Given the description of an element on the screen output the (x, y) to click on. 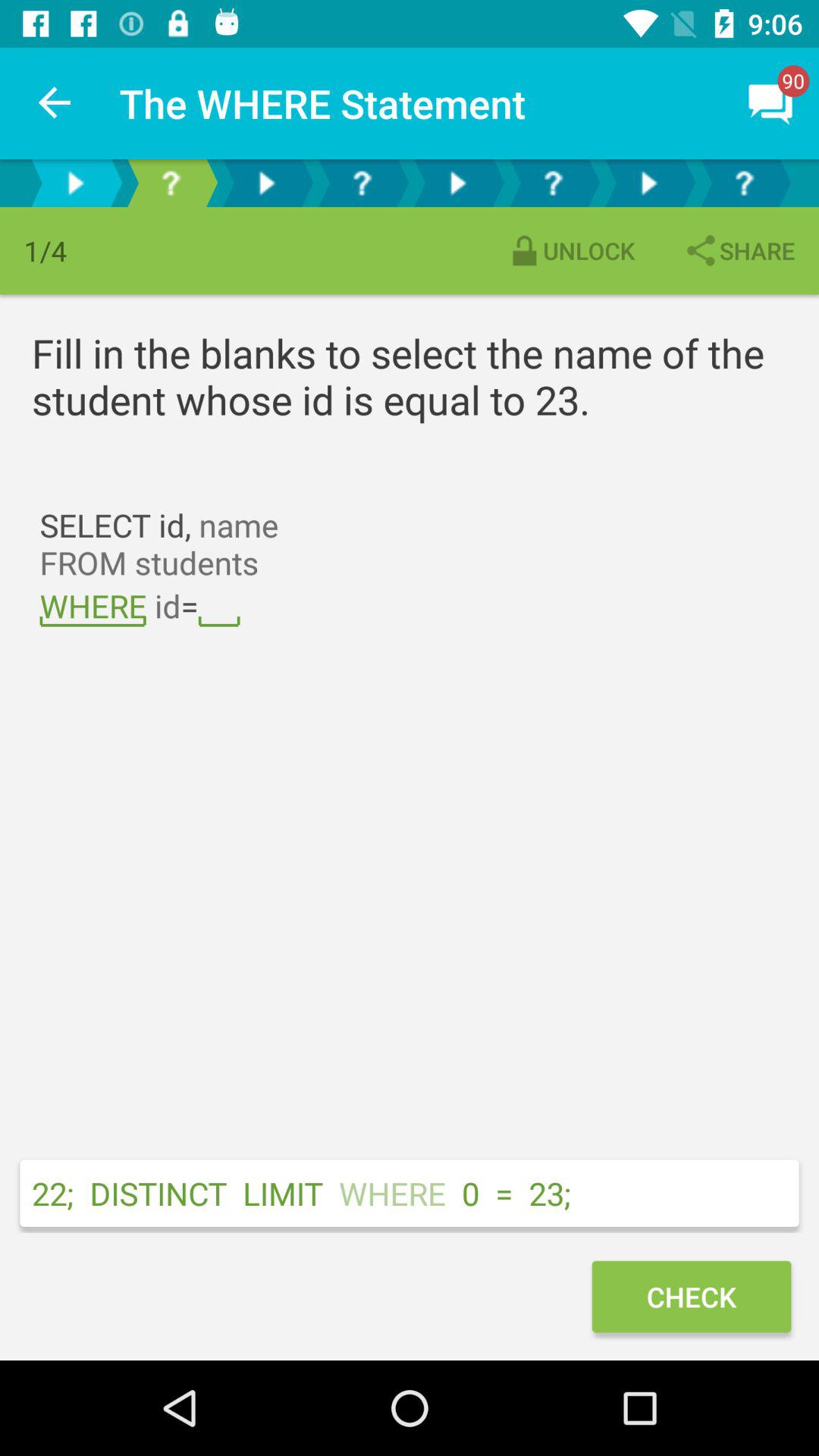
open the item to the right of unlock item (738, 250)
